Given the description of an element on the screen output the (x, y) to click on. 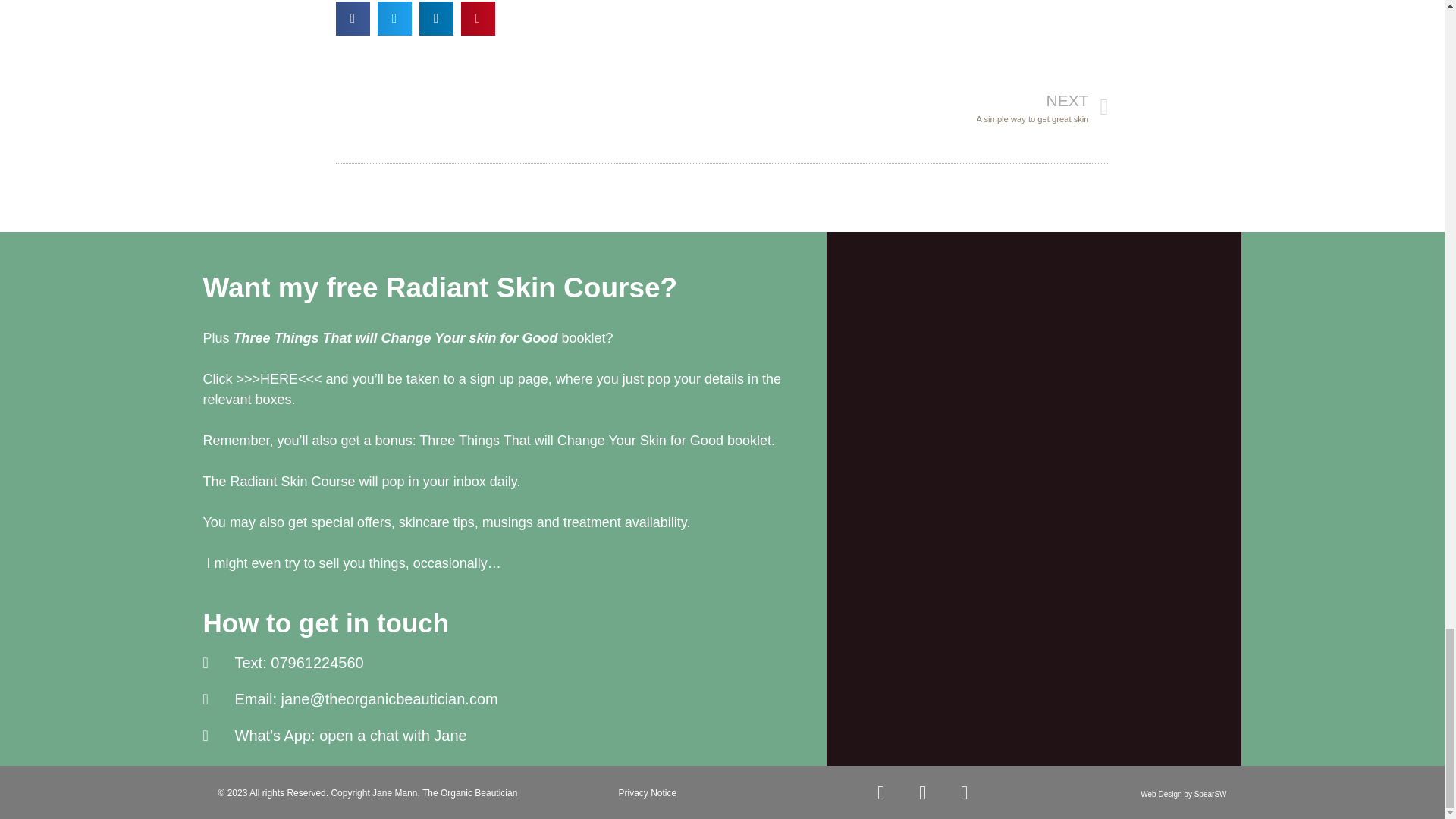
HERE (279, 378)
Web Design by SpearSW (1182, 794)
Privacy Notice (647, 792)
What's App: open a chat with Jane (515, 734)
